Given the description of an element on the screen output the (x, y) to click on. 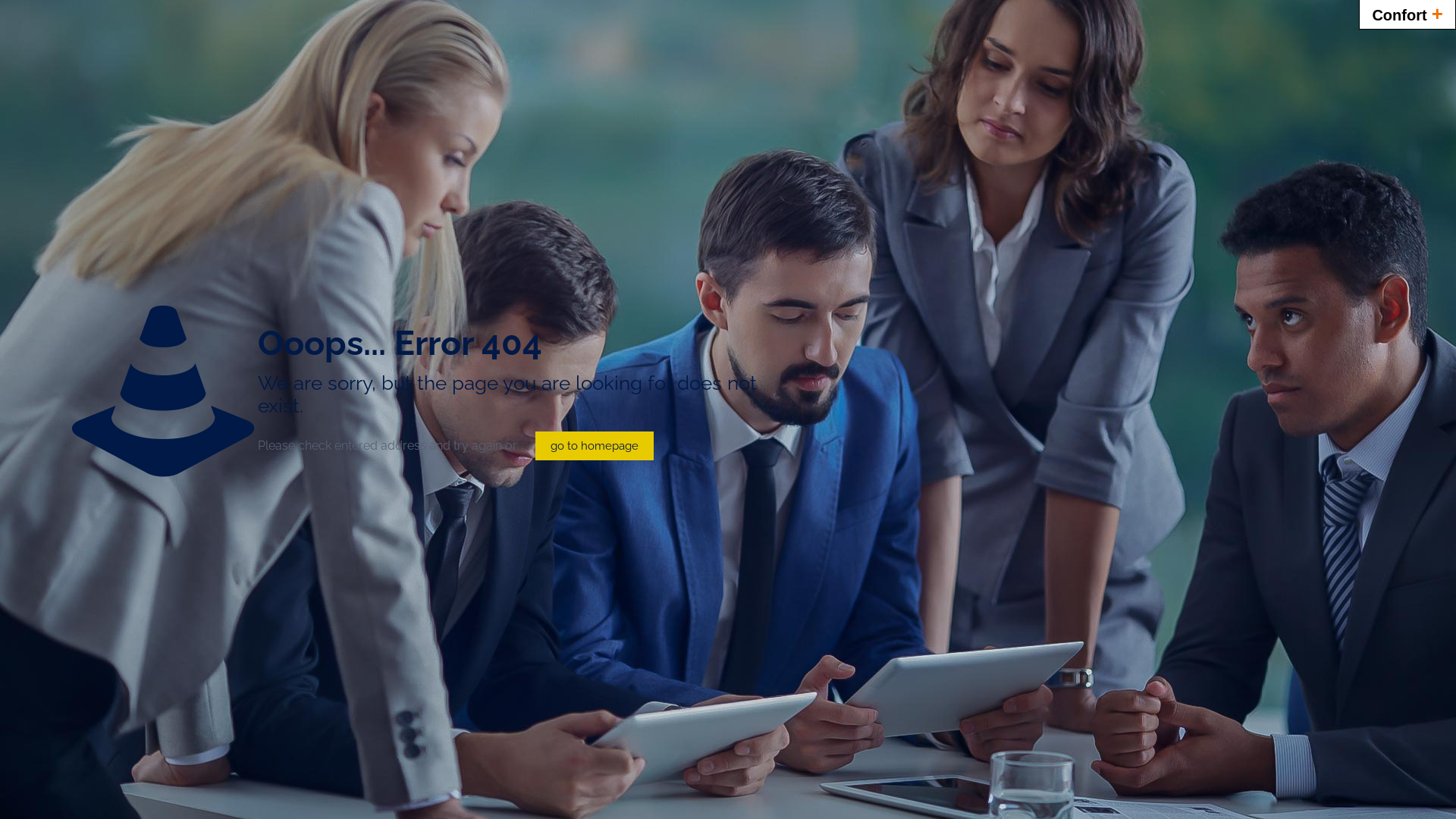
Confort+ Element type: text (1407, 14)
go to homepage Element type: text (594, 445)
